Given the description of an element on the screen output the (x, y) to click on. 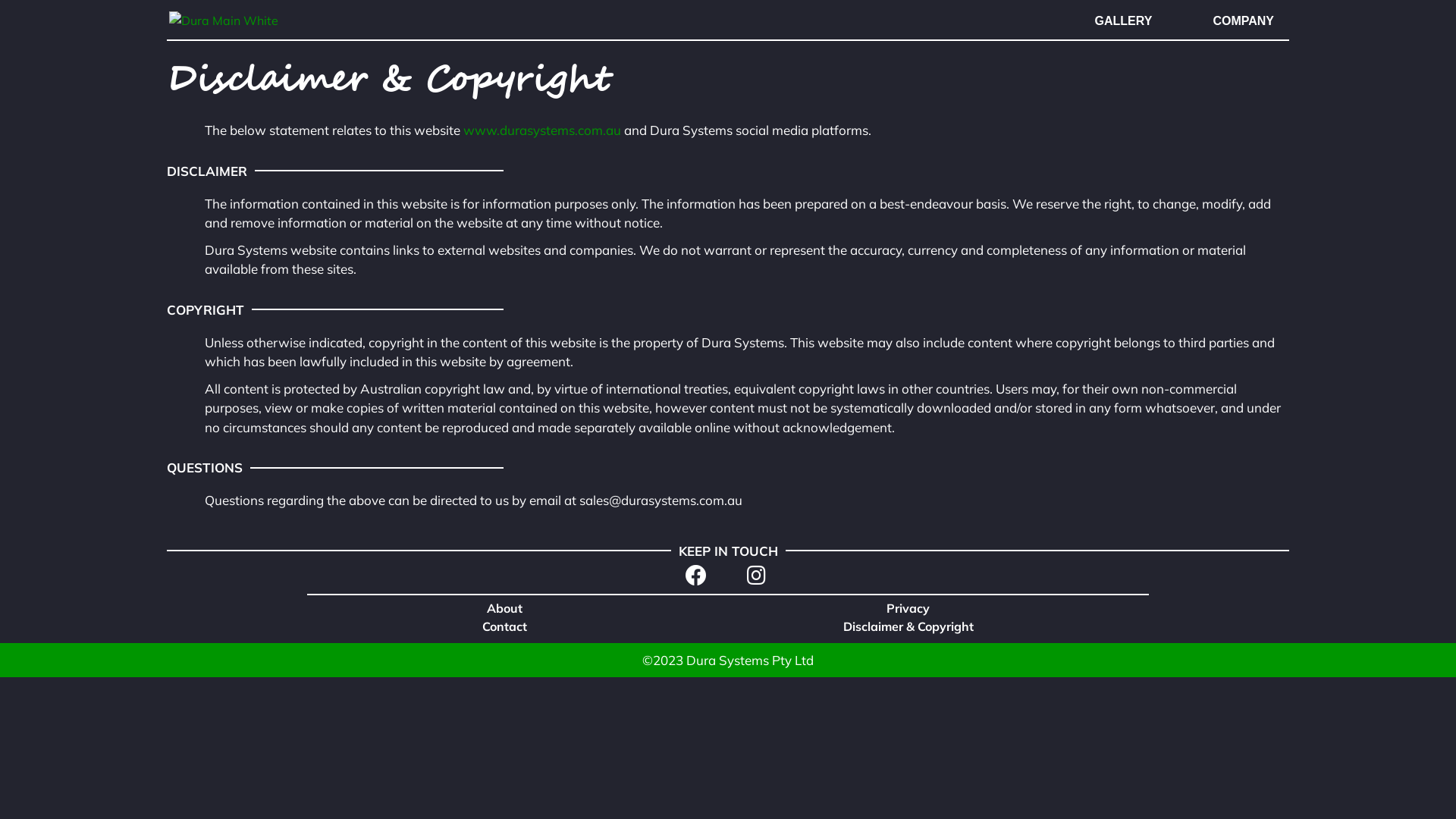
Contact Element type: text (504, 626)
Disclaimer & Copyright Element type: text (908, 626)
About Element type: text (504, 608)
www.durasystems.com.au Element type: text (542, 130)
Privacy Element type: text (908, 608)
GALLERY Element type: text (1123, 20)
Dura Main White Element type: hover (223, 20)
COMPANY Element type: text (1243, 20)
